Given the description of an element on the screen output the (x, y) to click on. 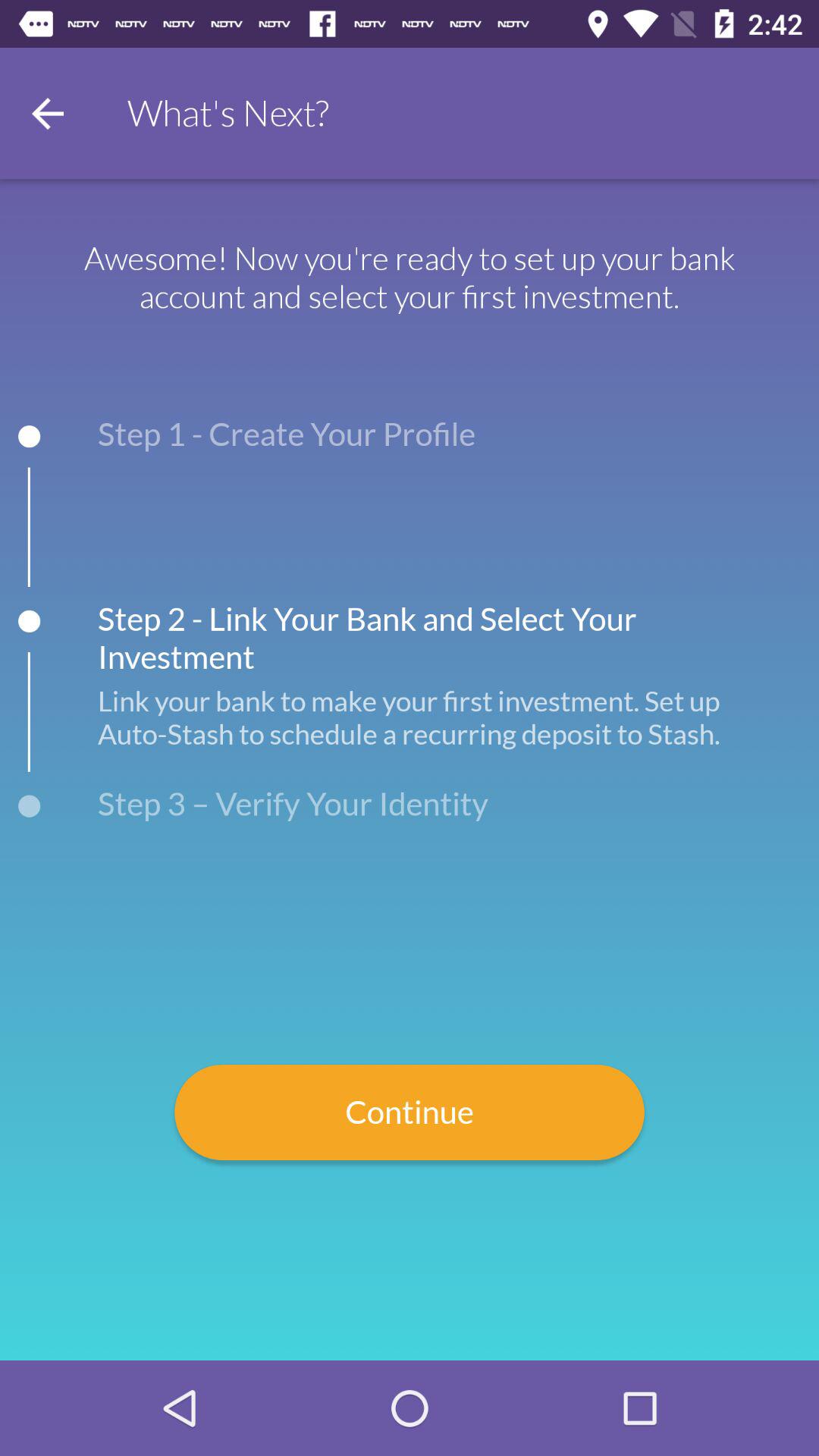
go back (47, 113)
